Given the description of an element on the screen output the (x, y) to click on. 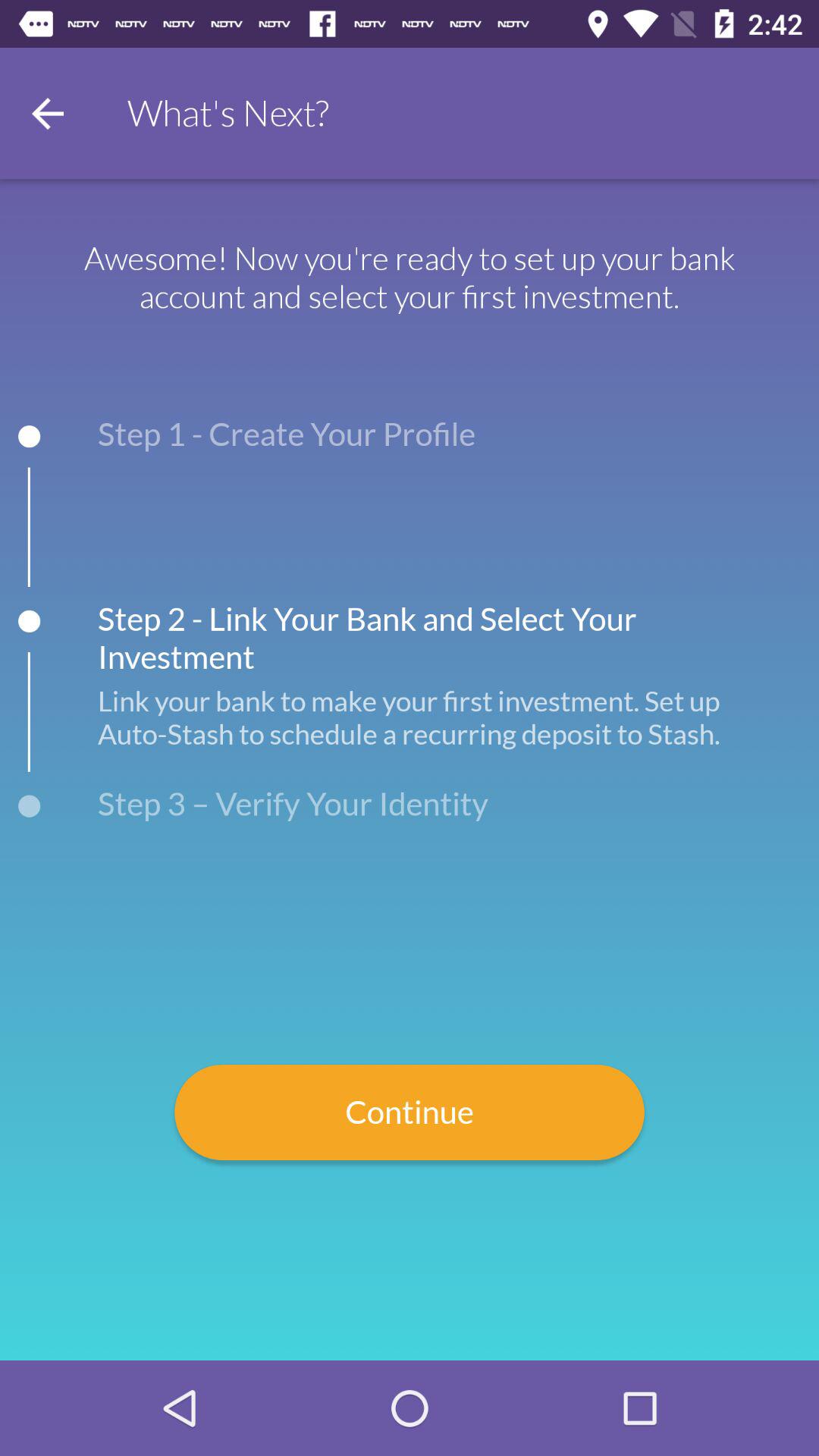
go back (47, 113)
